Given the description of an element on the screen output the (x, y) to click on. 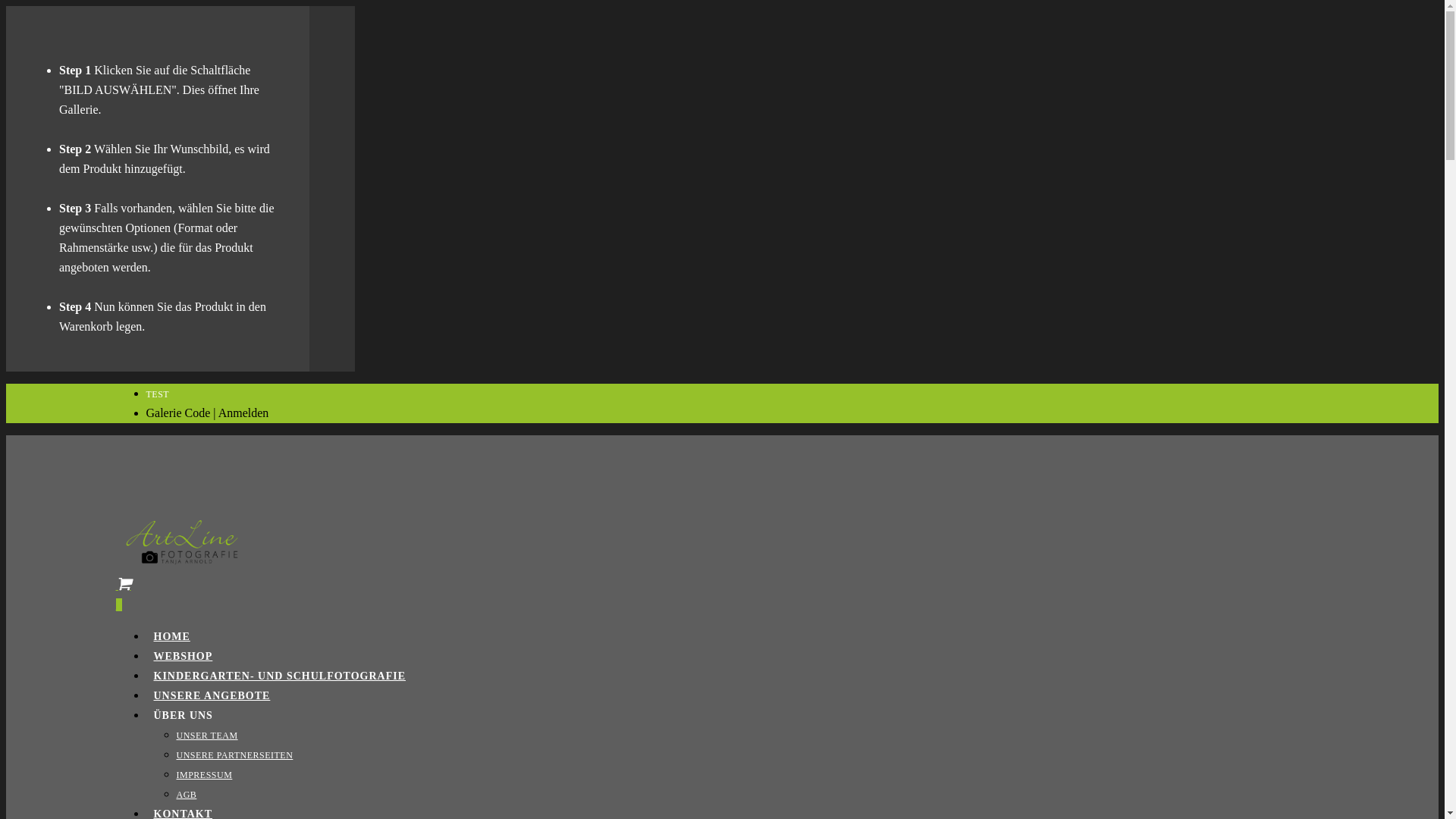
WEBSHOP Element type: text (182, 656)
KINDERGARTEN- UND SCHULFOTOGRAFIE Element type: text (279, 676)
HOME Element type: text (171, 636)
0 Element type: text (721, 596)
UNSER TEAM Element type: text (206, 735)
UNSERE ANGEBOTE Element type: text (211, 696)
IMPRESSUM Element type: text (203, 774)
TEST Element type: text (157, 394)
UNSERE PARTNERSEITEN Element type: text (233, 754)
AGB Element type: text (185, 794)
